Given the description of an element on the screen output the (x, y) to click on. 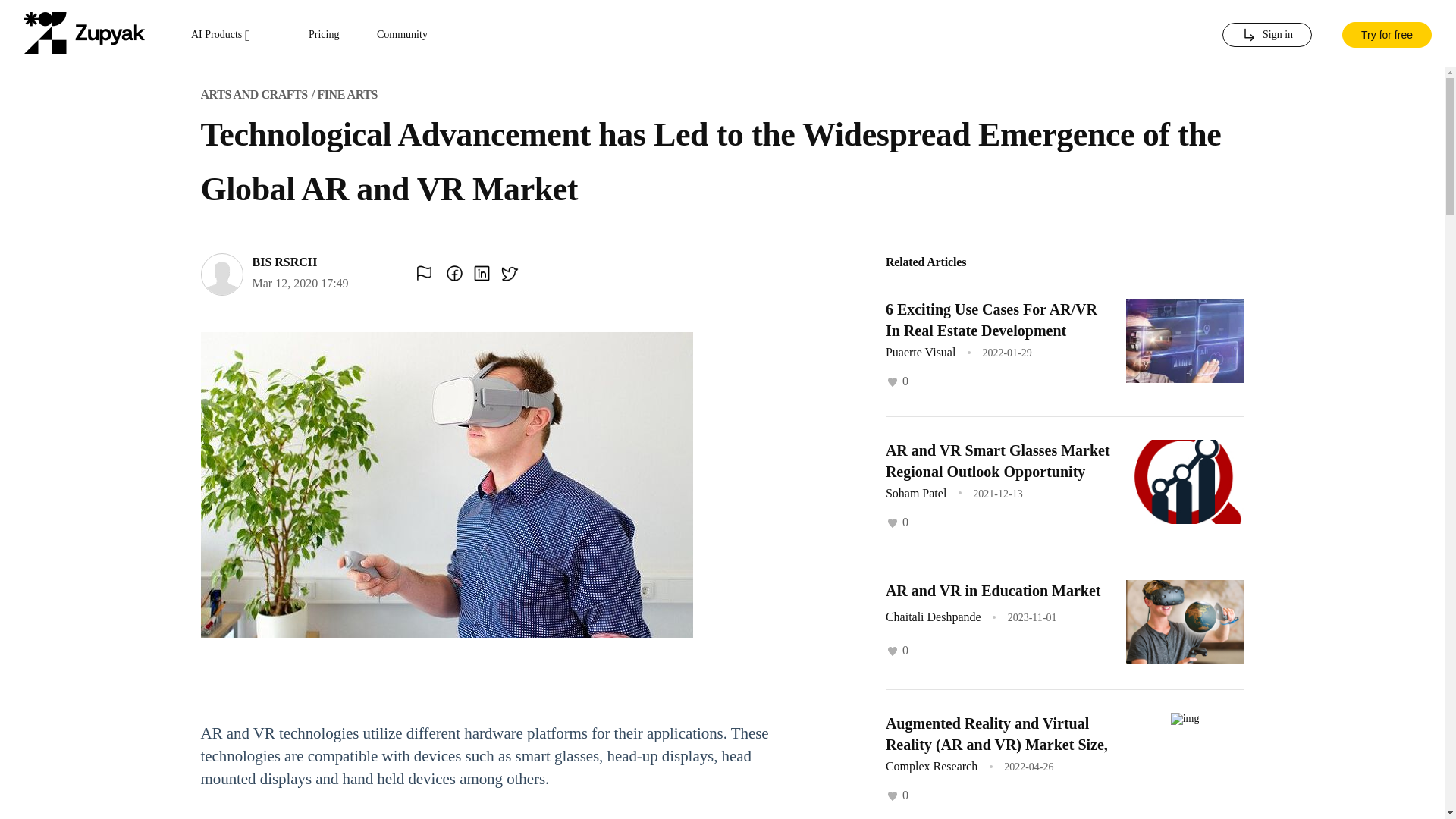
Community (402, 34)
ARTS AND CRAFTS (253, 93)
FINE ARTS (347, 93)
Try for free (1386, 33)
AR and VR in Education Market (992, 590)
 Sign in (1267, 34)
Pricing (323, 34)
